Given the description of an element on the screen output the (x, y) to click on. 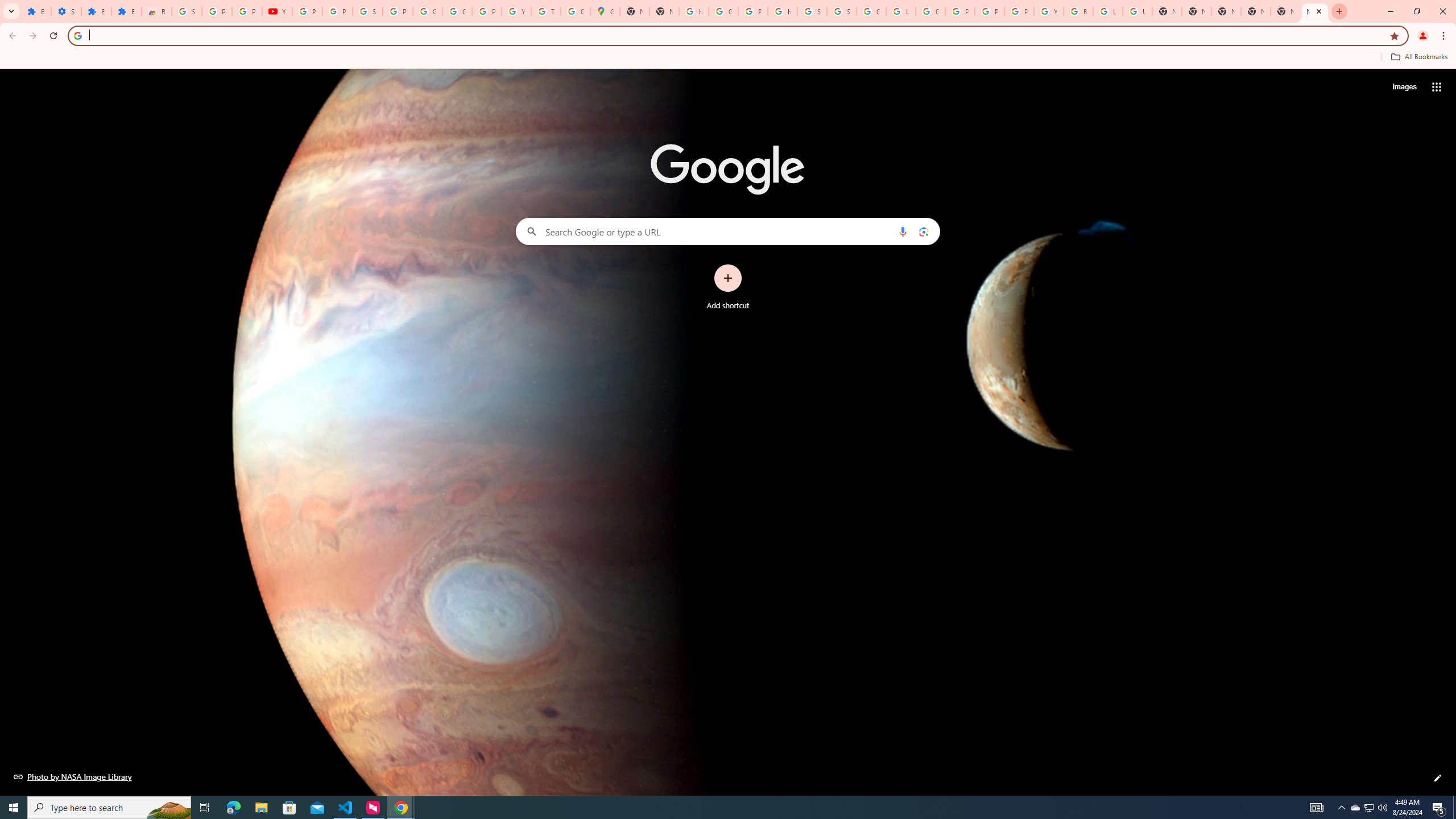
YouTube (277, 11)
New Tab (1226, 11)
Privacy Help Center - Policies Help (989, 11)
YouTube (1048, 11)
https://scholar.google.com/ (693, 11)
Sign in - Google Accounts (811, 11)
